Given the description of an element on the screen output the (x, y) to click on. 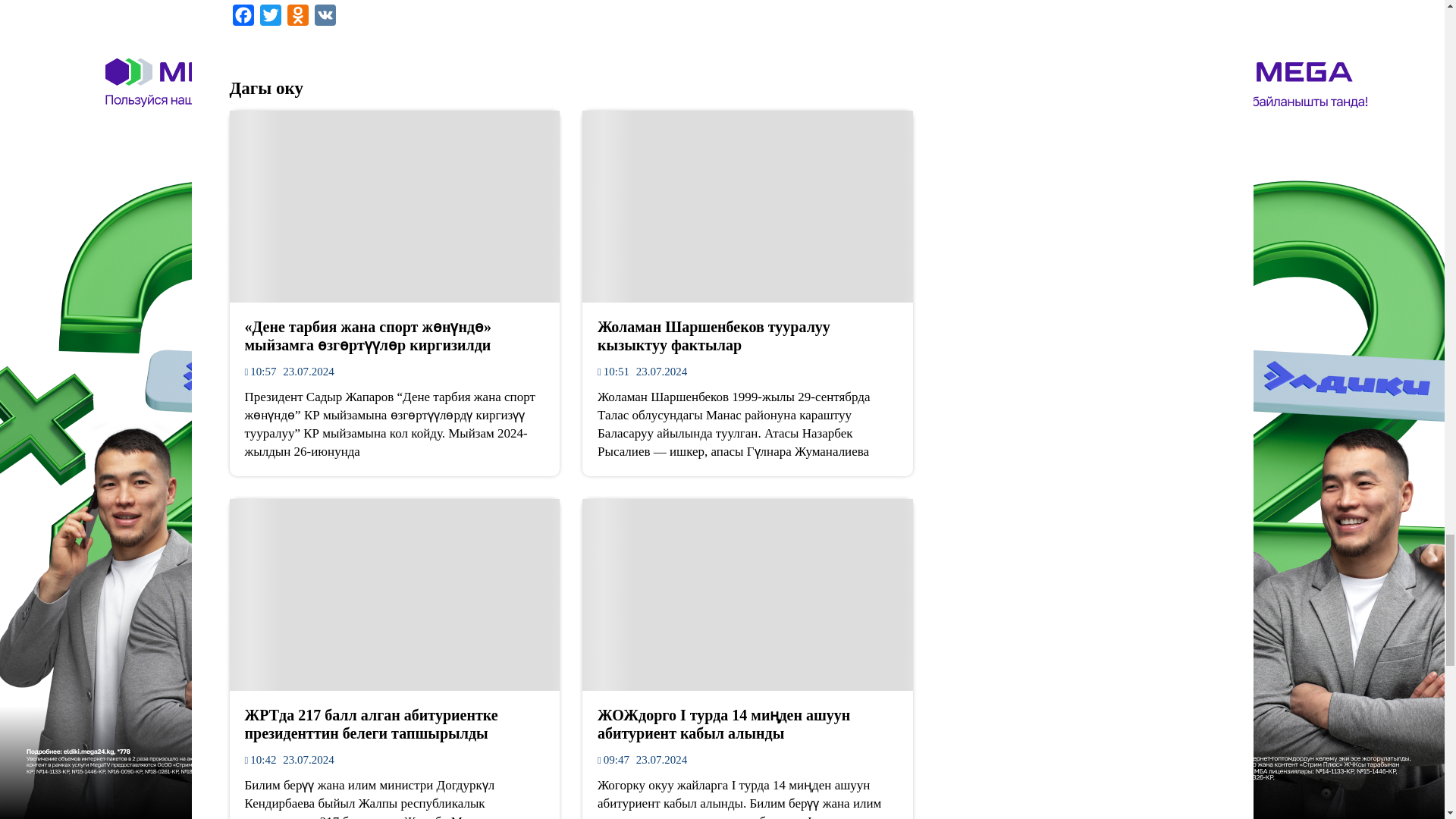
VK (324, 18)
Twitter (269, 18)
Facebook (242, 18)
Odnoklassniki (297, 18)
